Given the description of an element on the screen output the (x, y) to click on. 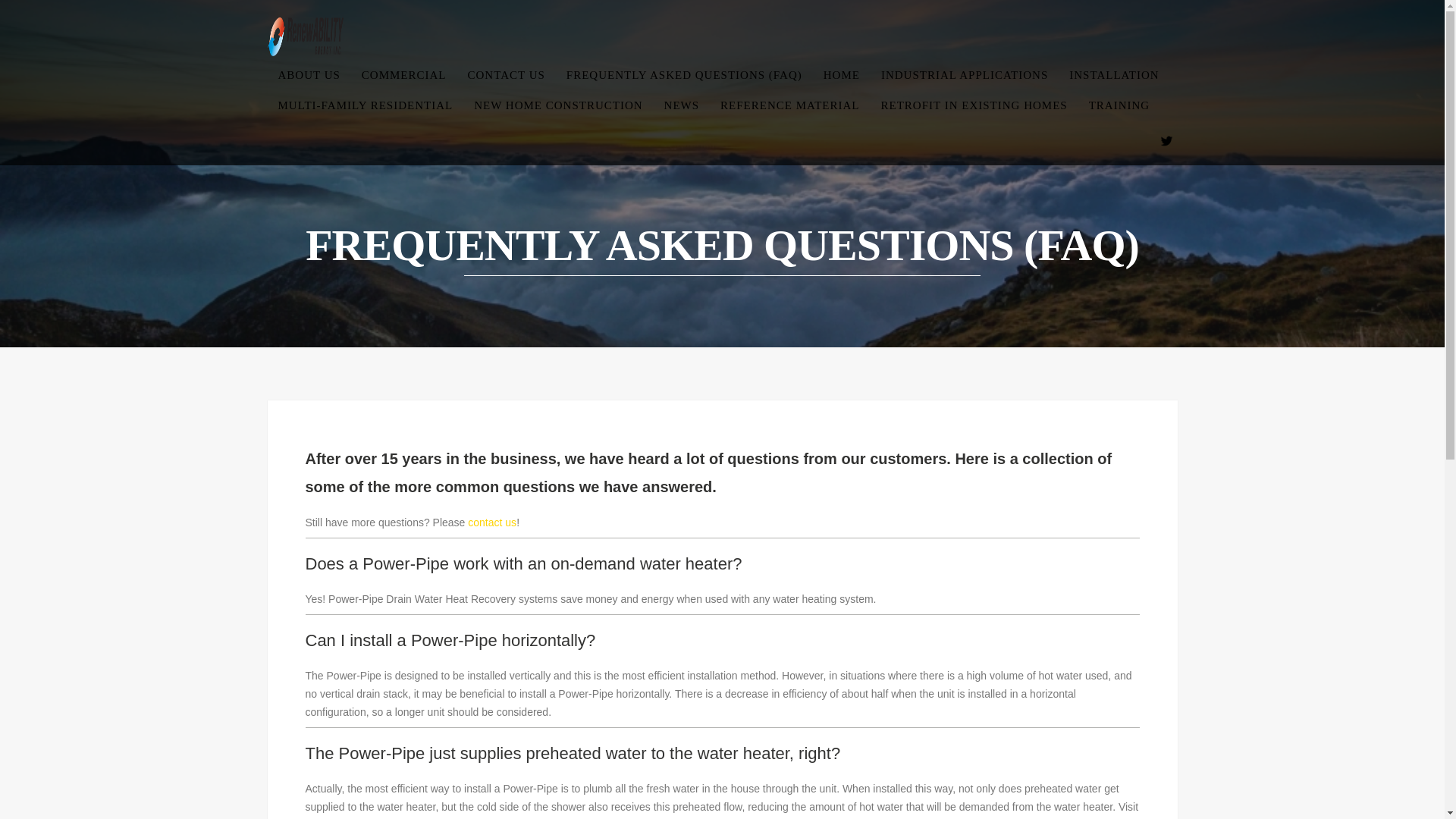
INSTALLATION (1113, 75)
ABOUT US (308, 75)
COMMERCIAL (403, 75)
MULTI-FAMILY RESIDENTIAL (364, 105)
Twitter (1166, 140)
INDUSTRIAL APPLICATIONS (964, 75)
RETROFIT IN EXISTING HOMES (974, 105)
NEWS (681, 105)
contact us (491, 522)
TRAINING (1119, 105)
REFERENCE MATERIAL (789, 105)
CONTACT US (506, 75)
HOME (841, 75)
NEW HOME CONSTRUCTION (557, 105)
